Given the description of an element on the screen output the (x, y) to click on. 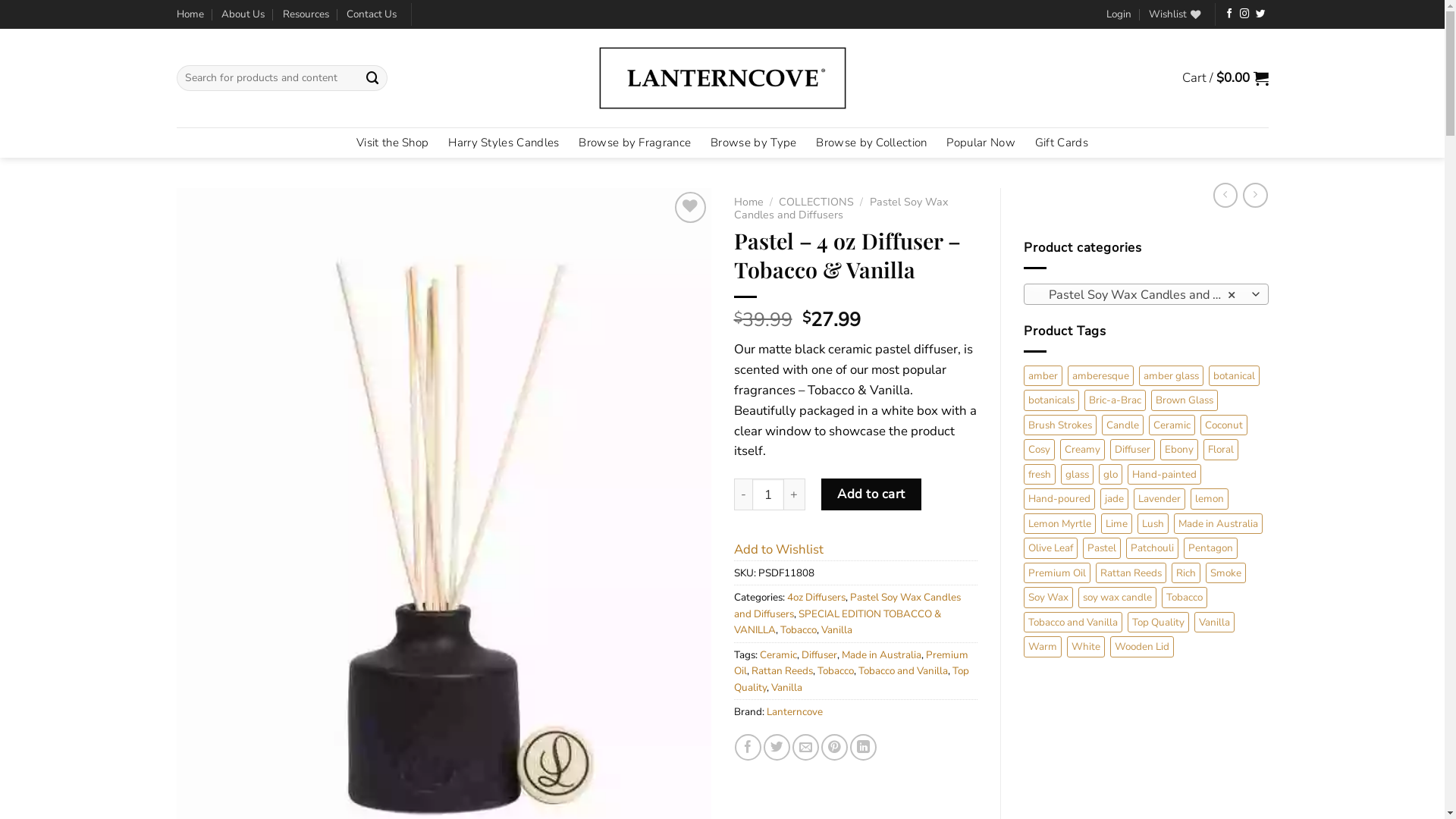
Premium Oil Element type: text (851, 662)
Add to cart Element type: text (871, 494)
Floral Element type: text (1220, 449)
Top Quality Element type: text (851, 678)
Pastel Soy Wax Candles and Diffusers Element type: text (840, 208)
amber glass Element type: text (1171, 375)
glo Element type: text (1110, 474)
Ceramic Element type: text (778, 654)
Browse by Fragrance Element type: text (634, 142)
Pastel Element type: text (1101, 547)
Hand-poured Element type: text (1059, 498)
fresh Element type: text (1039, 474)
Ebony Element type: text (1179, 449)
Pastel Soy Wax Candles and Diffusers Element type: text (847, 605)
Search Element type: text (371, 77)
Harry Styles Candles Element type: text (503, 142)
Diffuser Element type: text (1132, 449)
Cart / $0.00 Element type: text (1224, 77)
Pentagon Element type: text (1210, 547)
Popular Now Element type: text (980, 142)
Tobacco Element type: text (835, 670)
Top Quality Element type: text (1158, 622)
Warm Element type: text (1042, 646)
Candle Element type: text (1122, 425)
4oz Diffusers Element type: text (816, 596)
Diffuser Element type: text (818, 654)
jade Element type: text (1114, 498)
Visit the Shop Element type: text (392, 142)
COLLECTIONS Element type: text (815, 201)
Bric-a-Brac Element type: text (1114, 400)
glass Element type: text (1076, 474)
Smoke Element type: text (1225, 572)
Hand-painted Element type: text (1164, 474)
Made in Australia Element type: text (881, 654)
Vanilla Element type: text (785, 687)
botanicals Element type: text (1051, 400)
Resources Element type: text (305, 14)
Tobacco Element type: text (797, 629)
Gift Cards Element type: text (1061, 142)
Made in Australia Element type: text (1217, 523)
Patchouli Element type: text (1152, 547)
Premium Oil Element type: text (1056, 572)
Home Element type: text (748, 201)
Rattan Reeds Element type: text (1130, 572)
Lush Element type: text (1152, 523)
Login Element type: text (1118, 14)
Creamy Element type: text (1082, 449)
Coconut Element type: text (1223, 425)
Browse by Collection Element type: text (870, 142)
lemon Element type: text (1209, 498)
Lemon Myrtle Element type: text (1059, 523)
Wishlist Element type: text (1174, 14)
amberesque Element type: text (1100, 375)
Tobacco and Vanilla Element type: text (1072, 622)
Cosy Element type: text (1038, 449)
Wooden Lid Element type: text (1141, 646)
amber Element type: text (1042, 375)
Ceramic Element type: text (1171, 425)
Tobacco Element type: text (1184, 597)
Qty Element type: hover (768, 494)
White Element type: text (1085, 646)
Olive Leaf Element type: text (1050, 547)
Contact Us Element type: text (371, 14)
Brown Glass Element type: text (1184, 400)
Brush Strokes Element type: text (1059, 425)
Vanilla Element type: text (1214, 622)
Tobacco and Vanilla Element type: text (902, 670)
Browse by Type Element type: text (753, 142)
soy wax candle Element type: text (1117, 597)
Home Element type: text (189, 14)
Lime Element type: text (1116, 523)
Rich Element type: text (1185, 572)
Rattan Reeds Element type: text (781, 670)
Soy Wax Element type: text (1048, 597)
About Us Element type: text (242, 14)
SPECIAL EDITION TOBACCO & VANILLA Element type: text (837, 621)
Vanilla Element type: text (835, 629)
Add to Wishlist Element type: text (778, 549)
Lanterncove Element type: text (793, 711)
Lavender Element type: text (1159, 498)
botanical Element type: text (1233, 375)
